Given the description of an element on the screen output the (x, y) to click on. 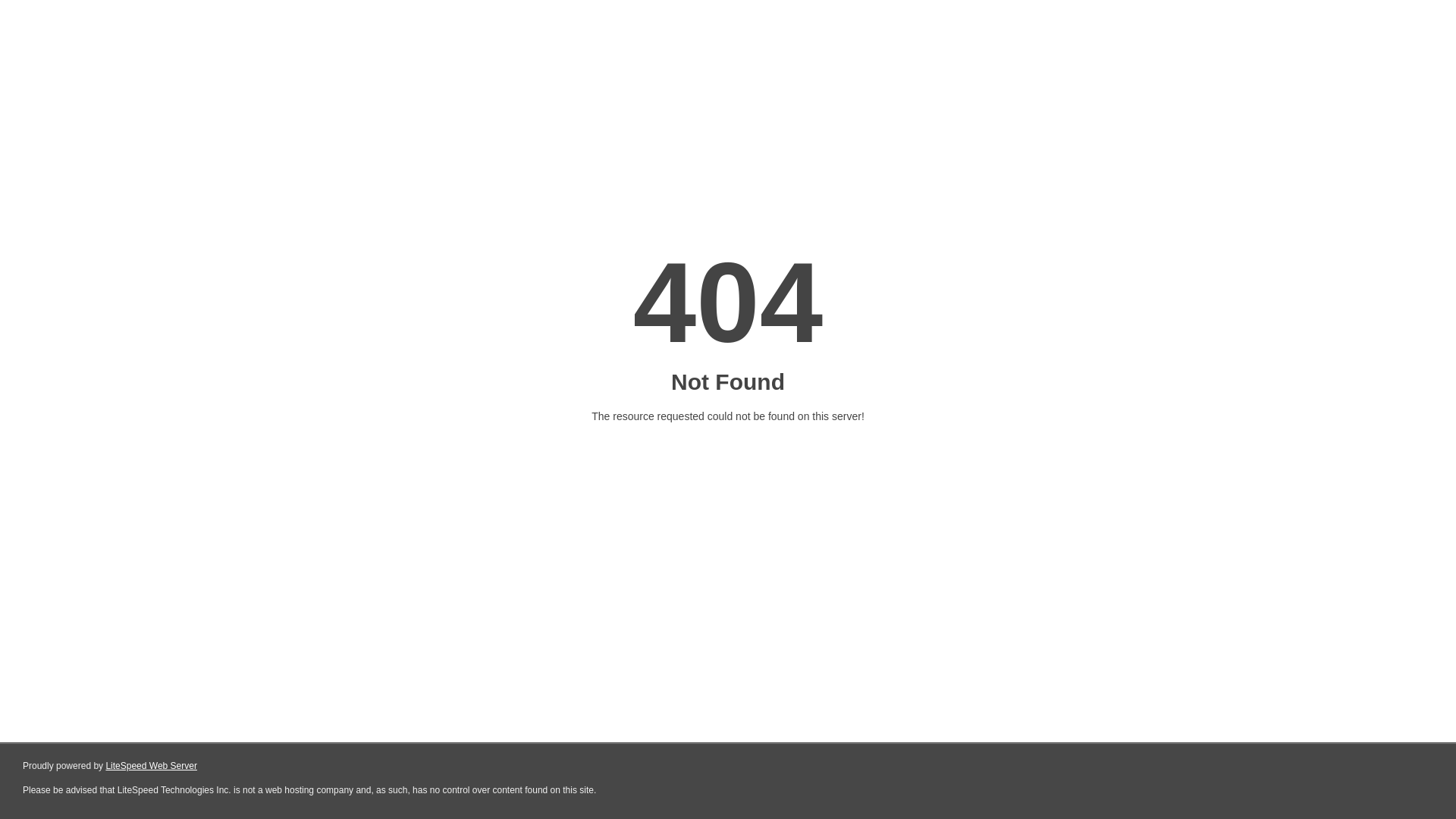
LiteSpeed Web Server Element type: text (151, 765)
